Given the description of an element on the screen output the (x, y) to click on. 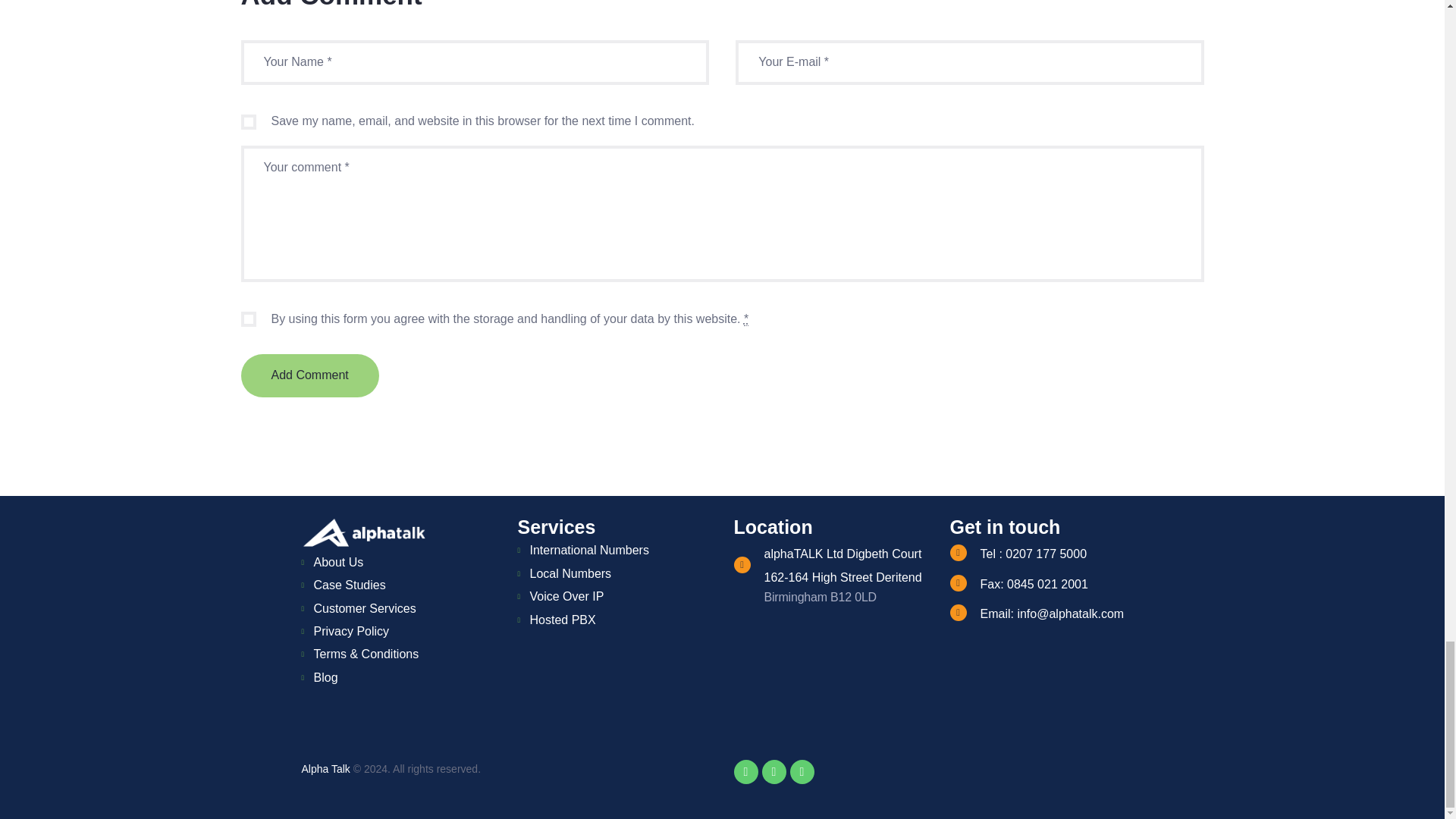
Add Comment (309, 375)
